Given the description of an element on the screen output the (x, y) to click on. 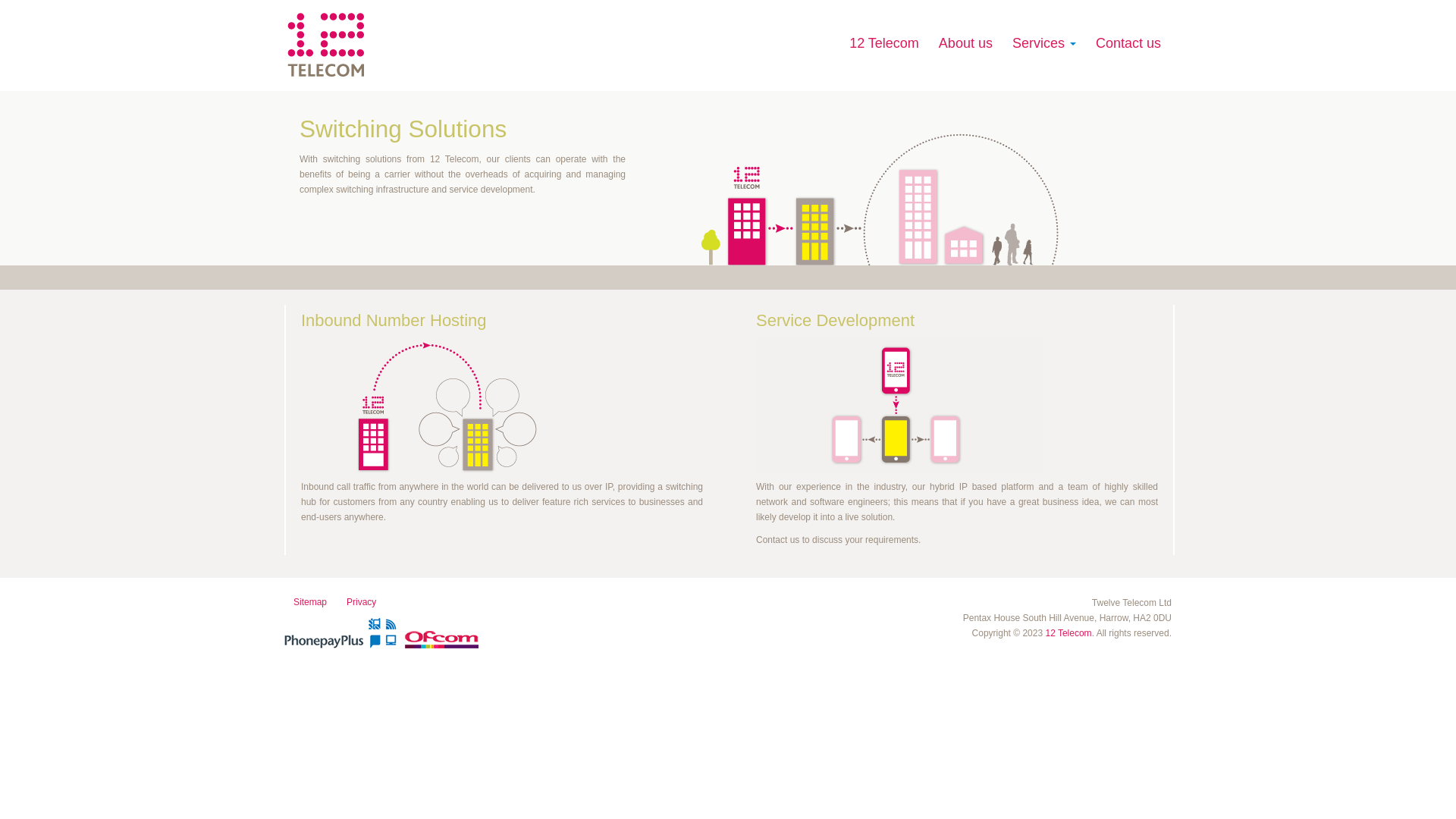
Sitemap Element type: text (309, 601)
About us Element type: text (965, 42)
12 Telecom Element type: text (884, 42)
12 Telecom Element type: text (1067, 632)
Privacy Element type: text (361, 601)
Services Element type: text (1044, 42)
Contact us Element type: text (1128, 42)
